Given the description of an element on the screen output the (x, y) to click on. 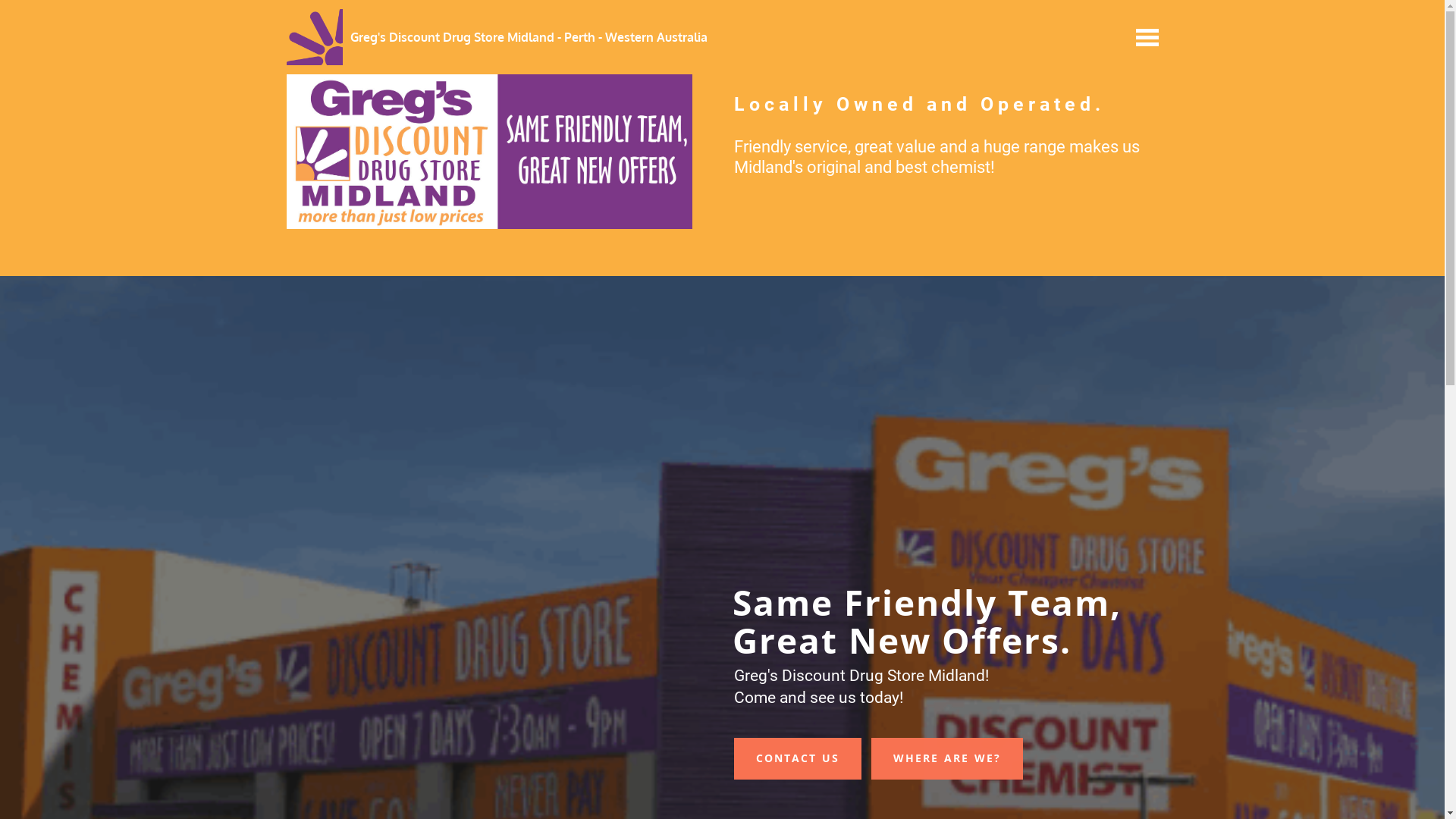
CONTACT US Element type: text (797, 758)
WHERE ARE WE? Element type: text (946, 758)
Greg's Discount Drug Store Midland Element type: hover (314, 37)
Greg's Discount Drug Store Midland Element type: hover (489, 151)
